Given the description of an element on the screen output the (x, y) to click on. 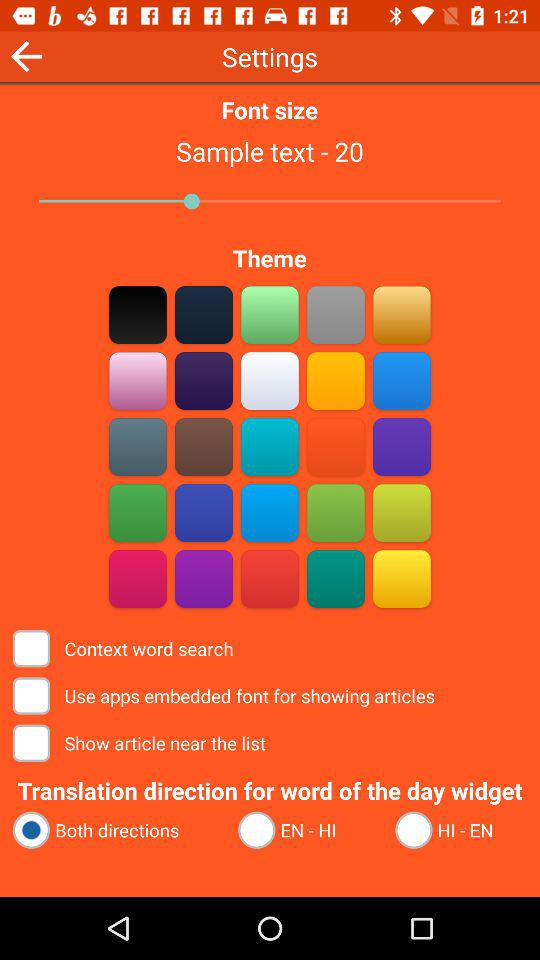
tan (269, 380)
